Given the description of an element on the screen output the (x, y) to click on. 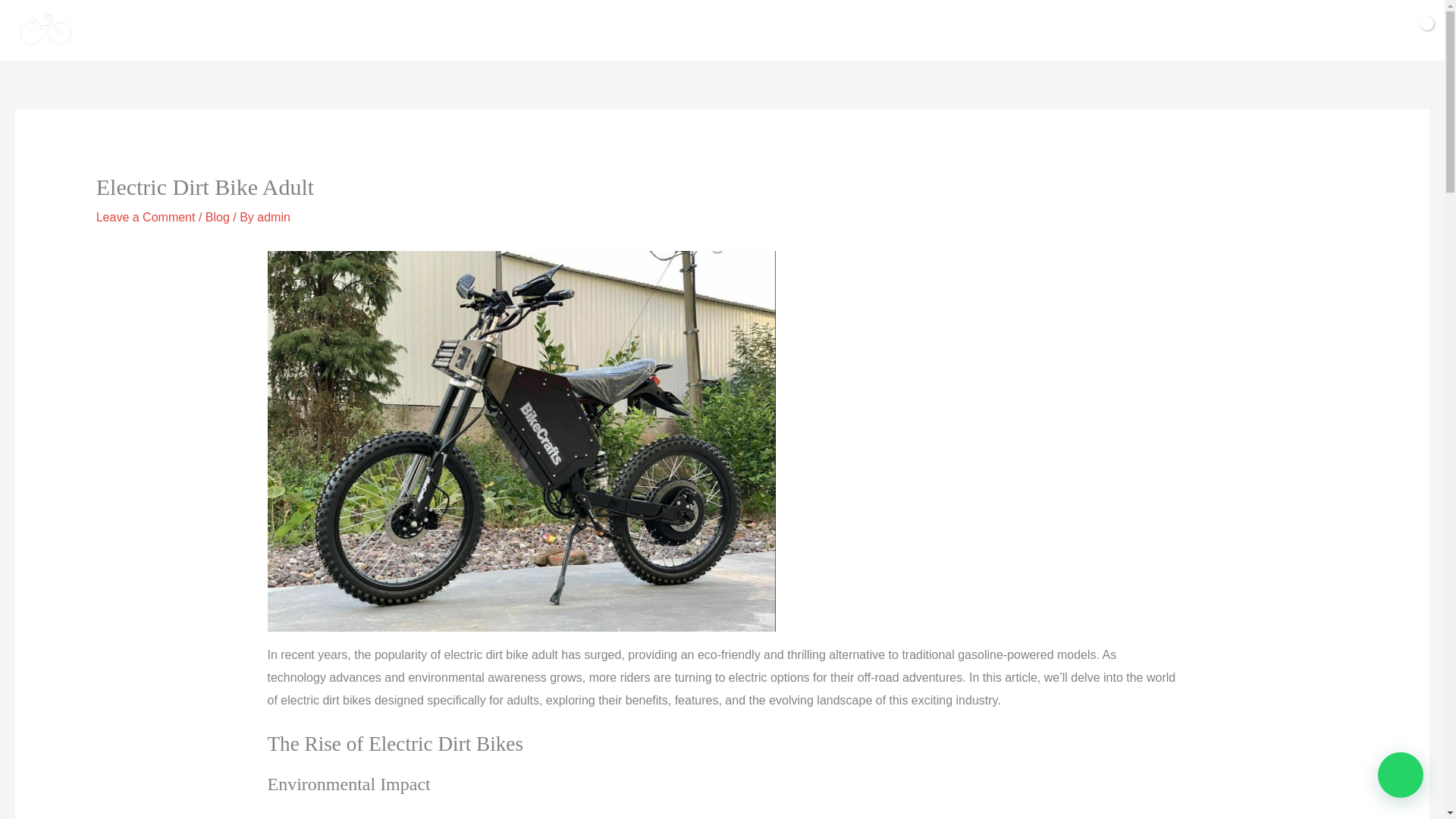
ACCESSORIES (775, 30)
SHOP NOW (673, 30)
Leave a Comment (145, 216)
HOME (417, 30)
View all posts by admin (273, 216)
BLOG (945, 30)
CONTACT (1016, 30)
Blog (217, 216)
ABOUT US (874, 30)
admin (273, 216)
